Given the description of an element on the screen output the (x, y) to click on. 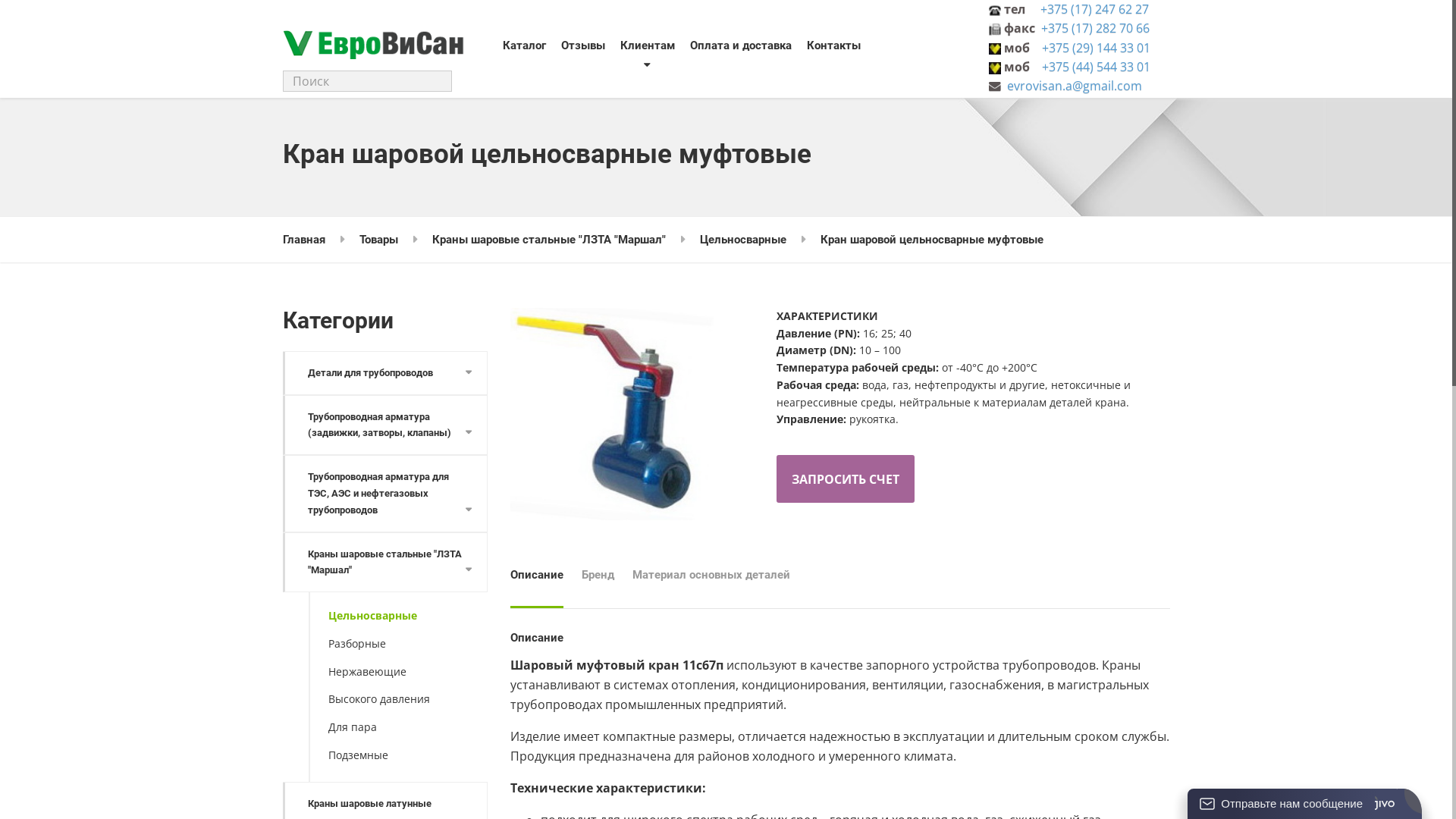
evrovisan.a@gmail.com Element type: text (895, 71)
+375 (17) 282 70 66 Element type: text (912, 23)
+375 (17) 247 62 27 Element type: text (911, 7)
+375 (29) 144 33 01 Element type: text (913, 39)
2 Element type: hover (624, 413)
+375 (44) 544 33 01 Element type: text (913, 55)
